Given the description of an element on the screen output the (x, y) to click on. 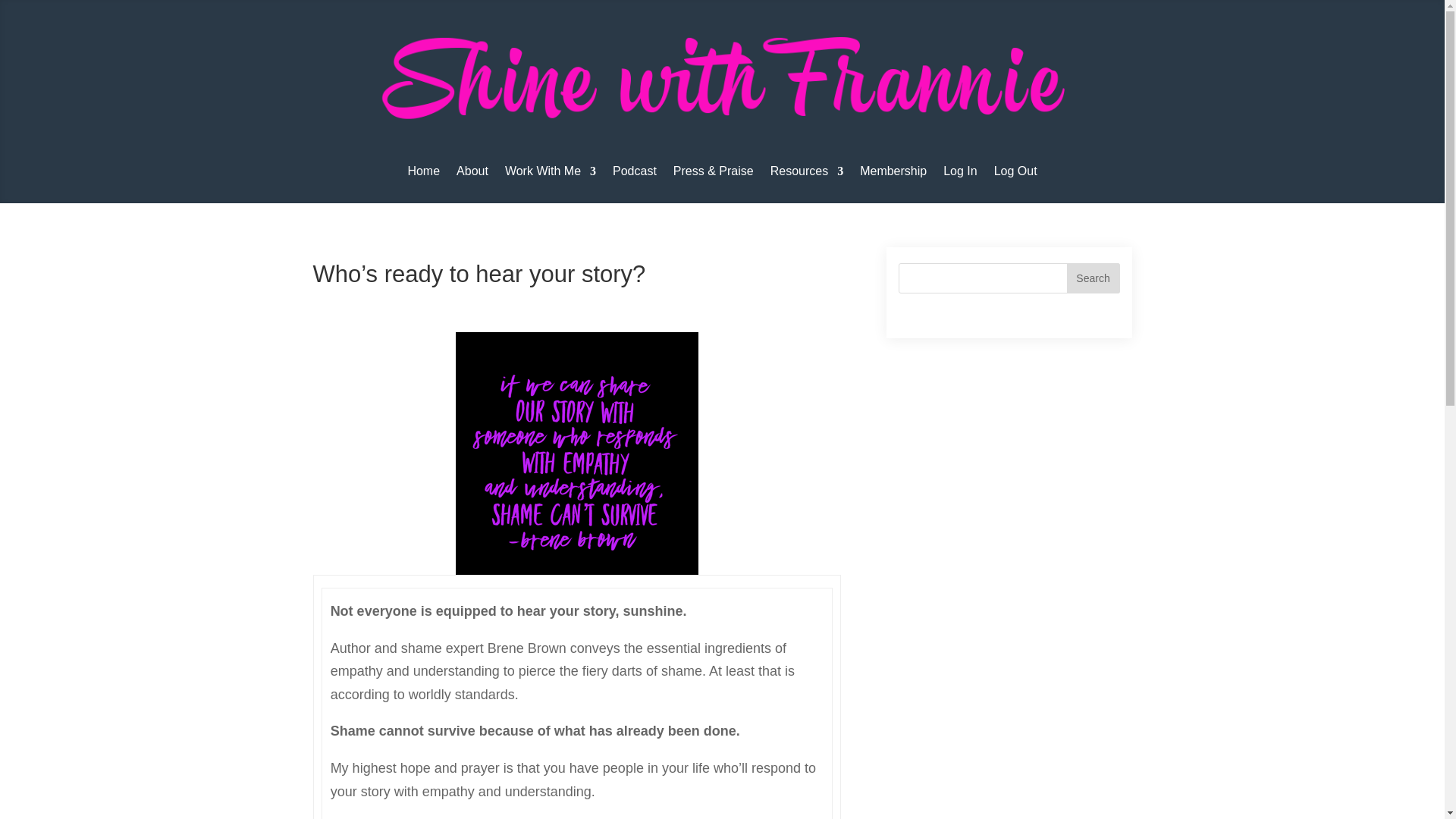
Log Out (1015, 174)
Resources (806, 174)
About (472, 174)
Work With Me (550, 174)
Search (1092, 277)
Search (1092, 277)
Log In (959, 174)
Membership (893, 174)
Home (423, 174)
Podcast (634, 174)
